Given the description of an element on the screen output the (x, y) to click on. 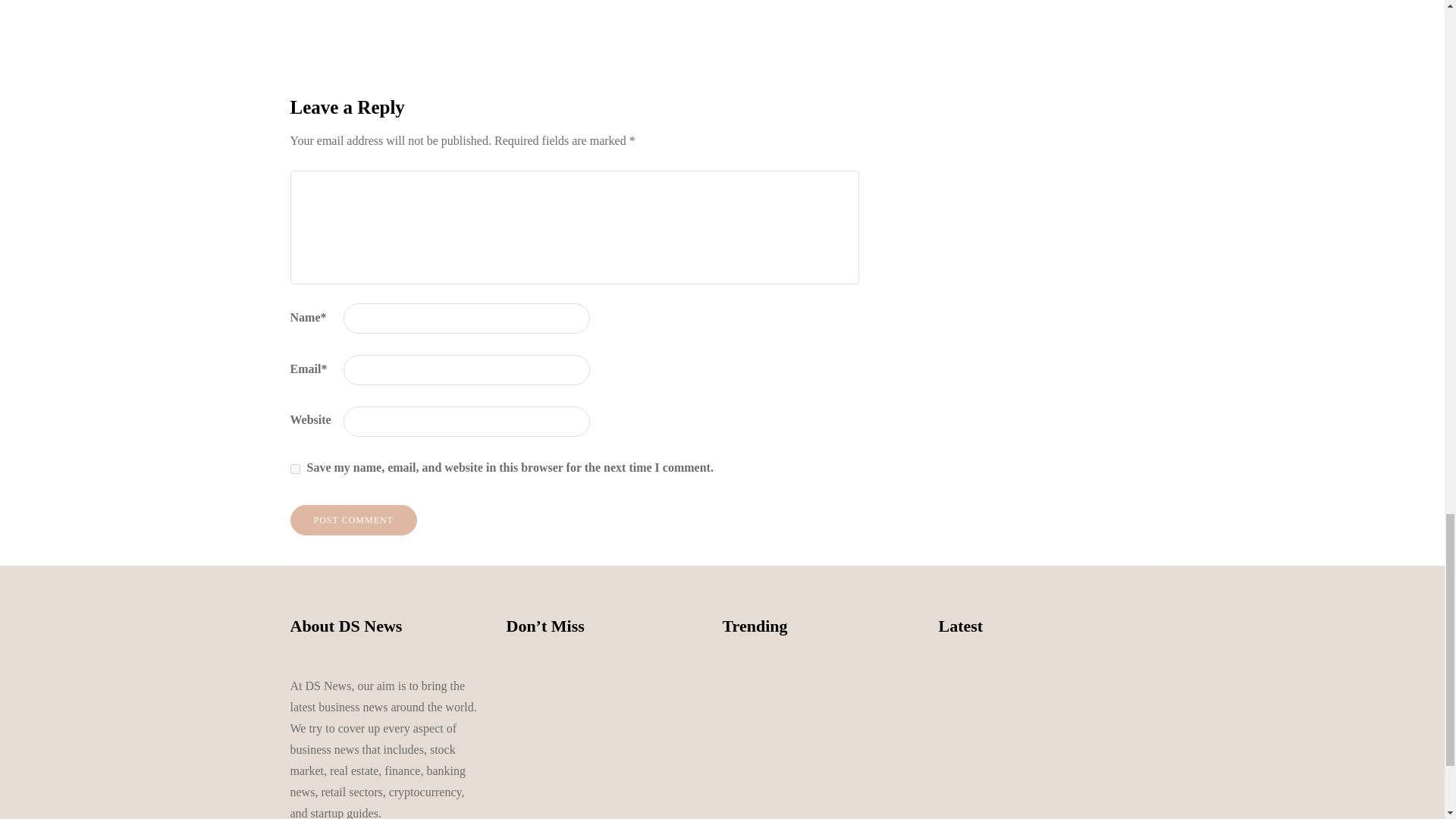
yes (294, 469)
Post comment (352, 520)
